Given the description of an element on the screen output the (x, y) to click on. 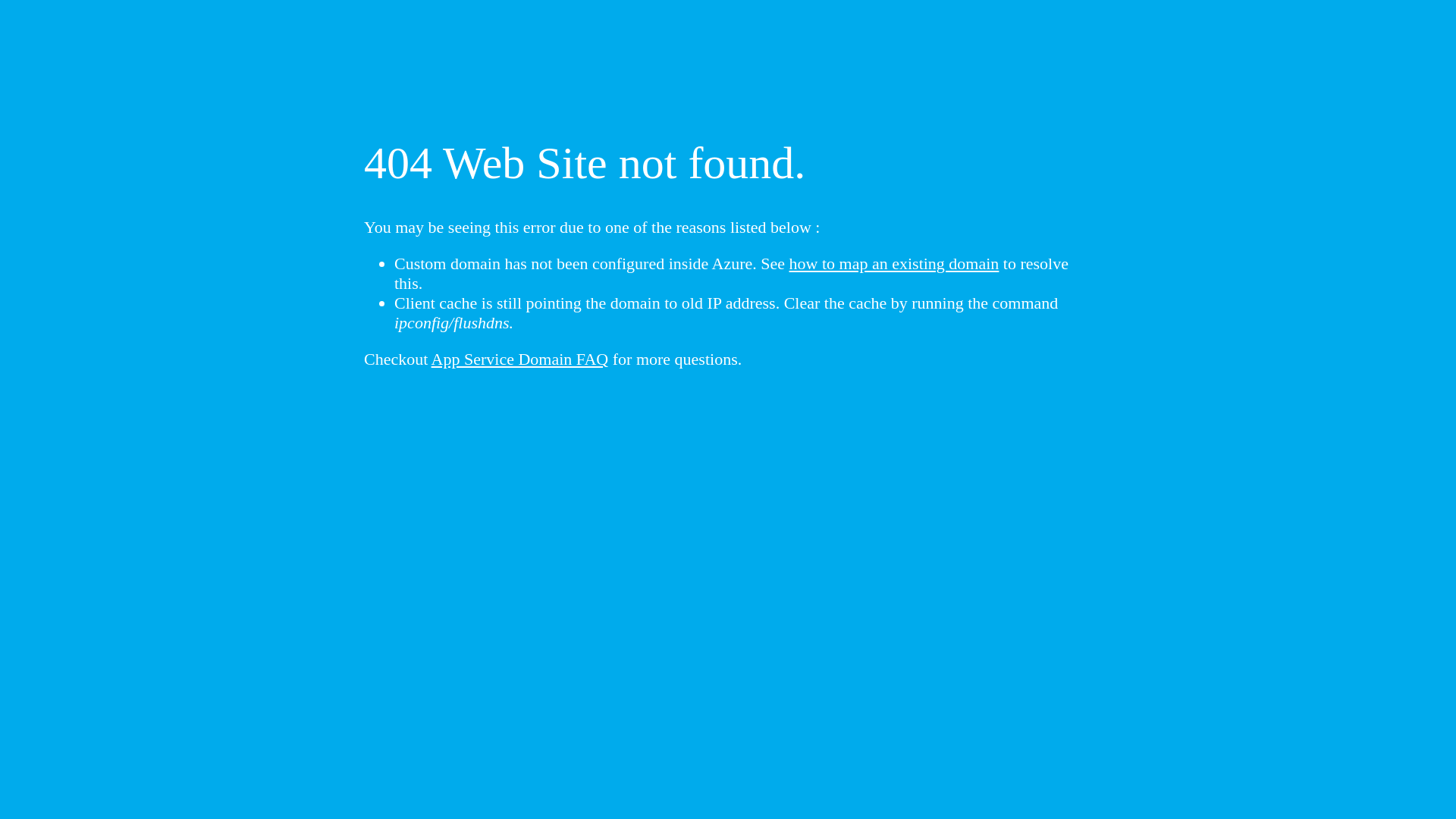
how to map an existing domain Element type: text (894, 263)
App Service Domain FAQ Element type: text (519, 358)
